Given the description of an element on the screen output the (x, y) to click on. 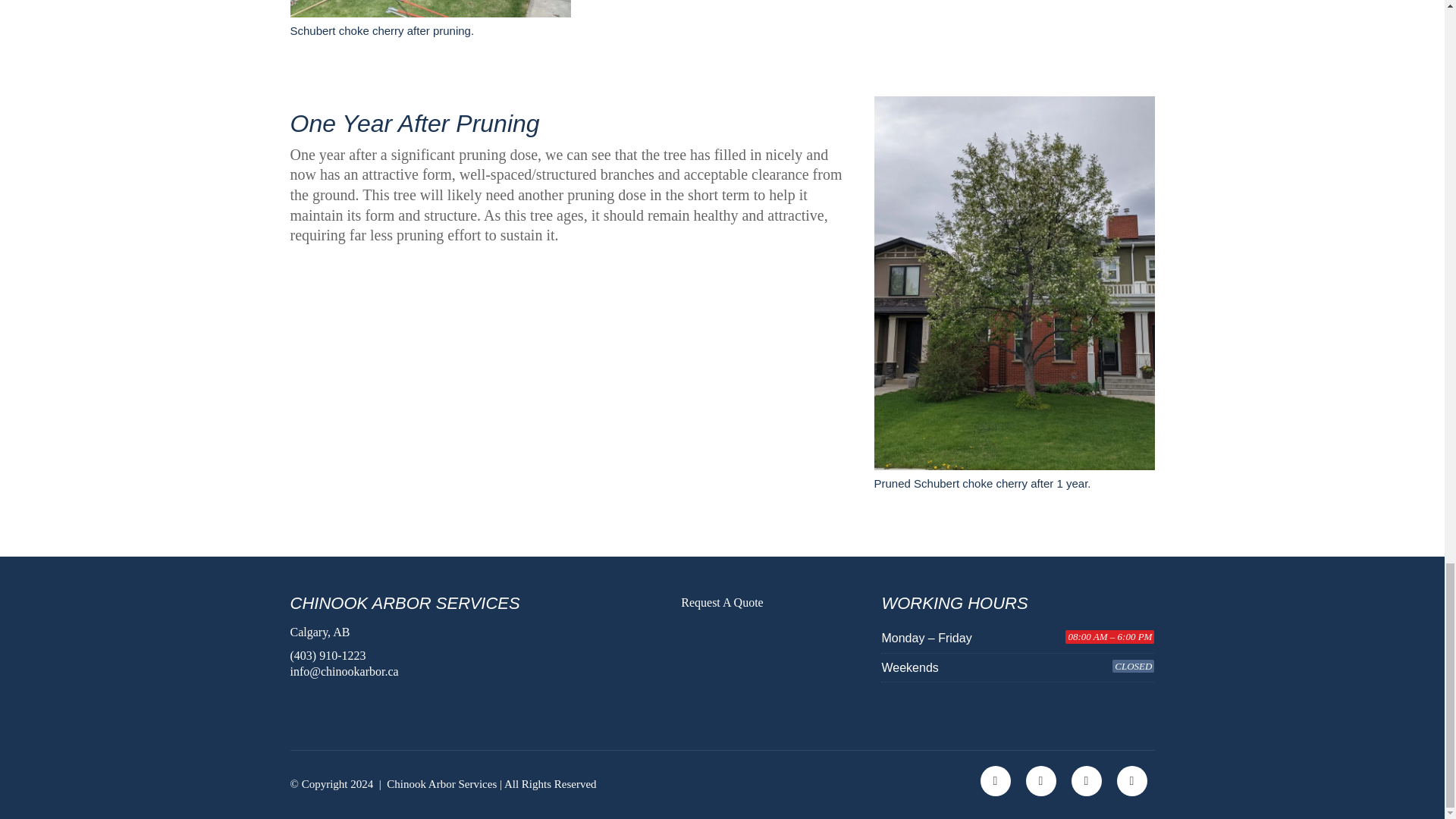
YouTube (1131, 780)
Instagram (1085, 780)
Facebook (994, 780)
Twitter X (1040, 780)
